Given the description of an element on the screen output the (x, y) to click on. 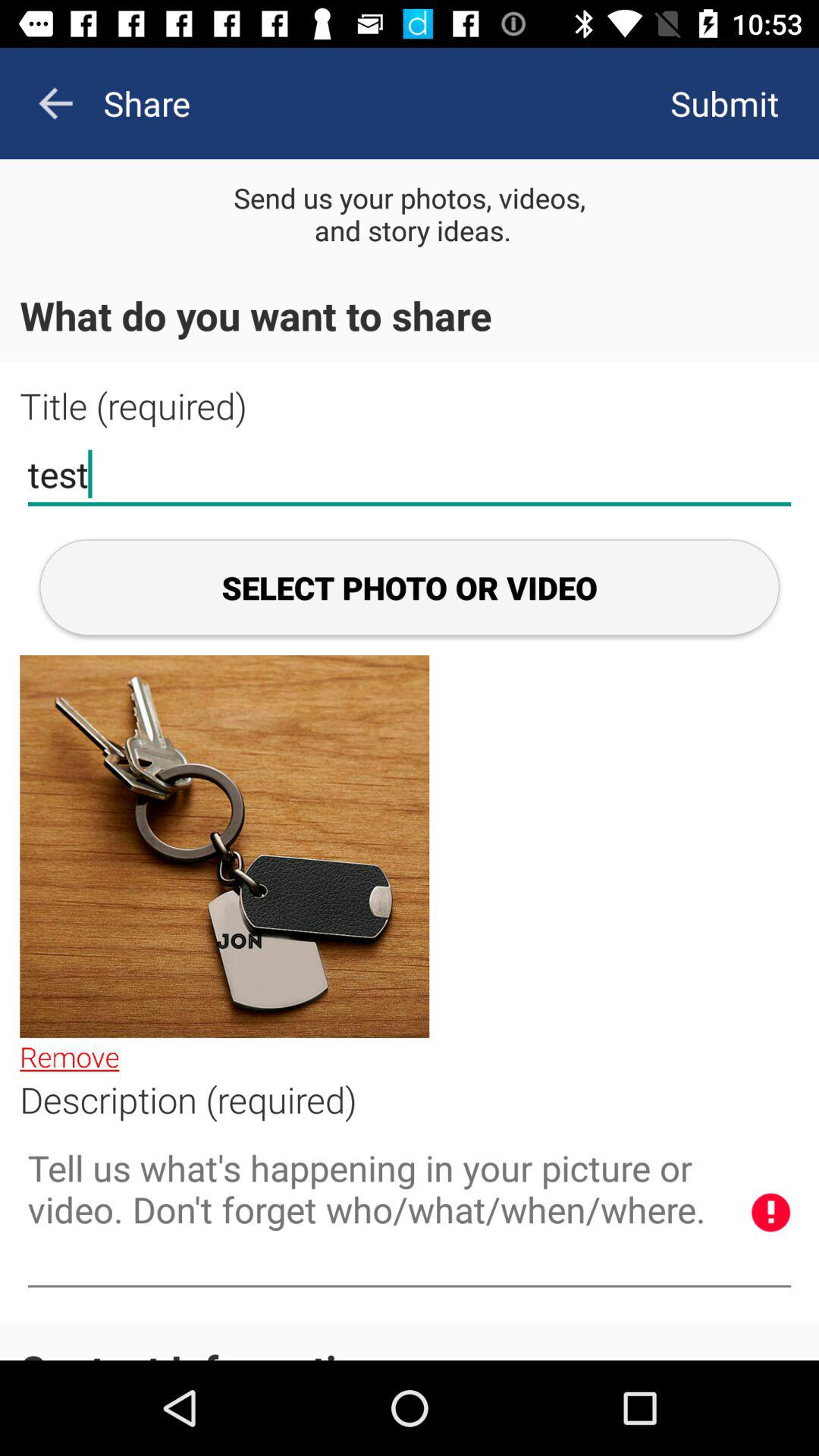
write comment (409, 1213)
